Given the description of an element on the screen output the (x, y) to click on. 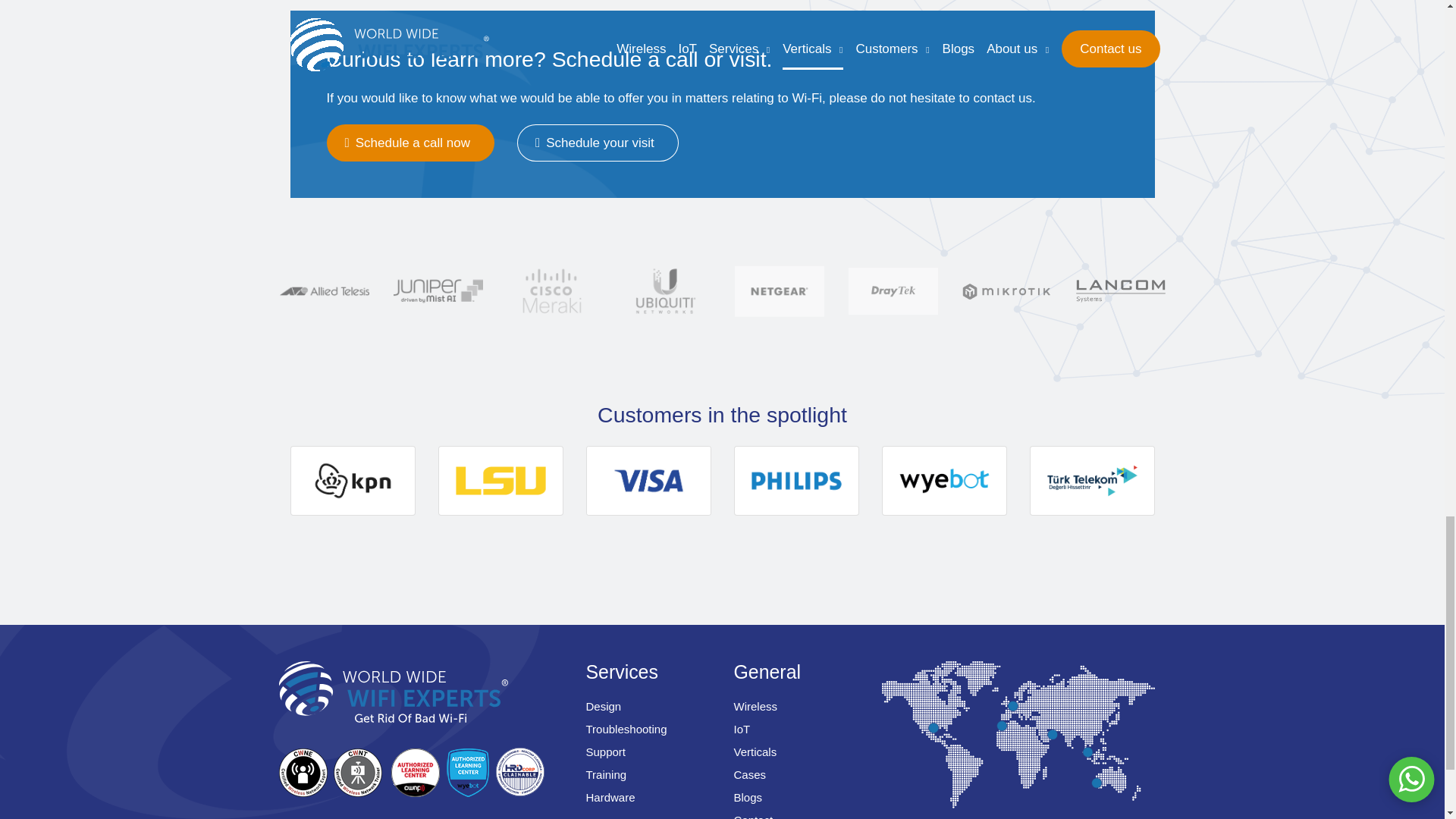
Netgear image (778, 290)
mist-logo image (437, 291)
aruba-logo image (209, 291)
cisco-meraki-logo image (551, 291)
Draytek image (892, 291)
